Given the description of an element on the screen output the (x, y) to click on. 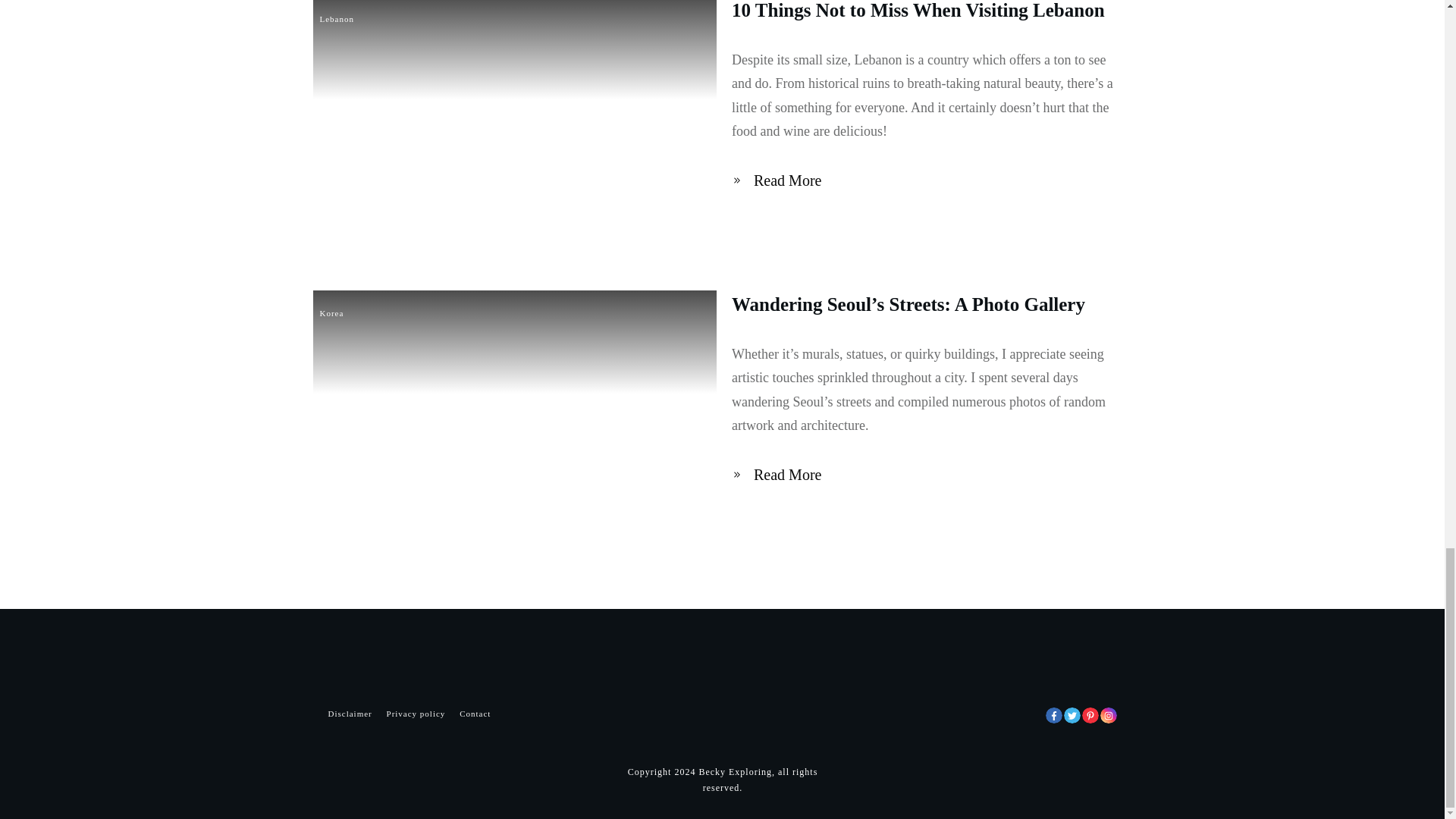
10 Things Not to Miss When Visiting Lebanon (918, 10)
Korea (331, 312)
Lebanon (336, 18)
Lebanon (336, 18)
Read More (780, 180)
10 Things Not to Miss When Visiting Lebanon (918, 10)
